Given the description of an element on the screen output the (x, y) to click on. 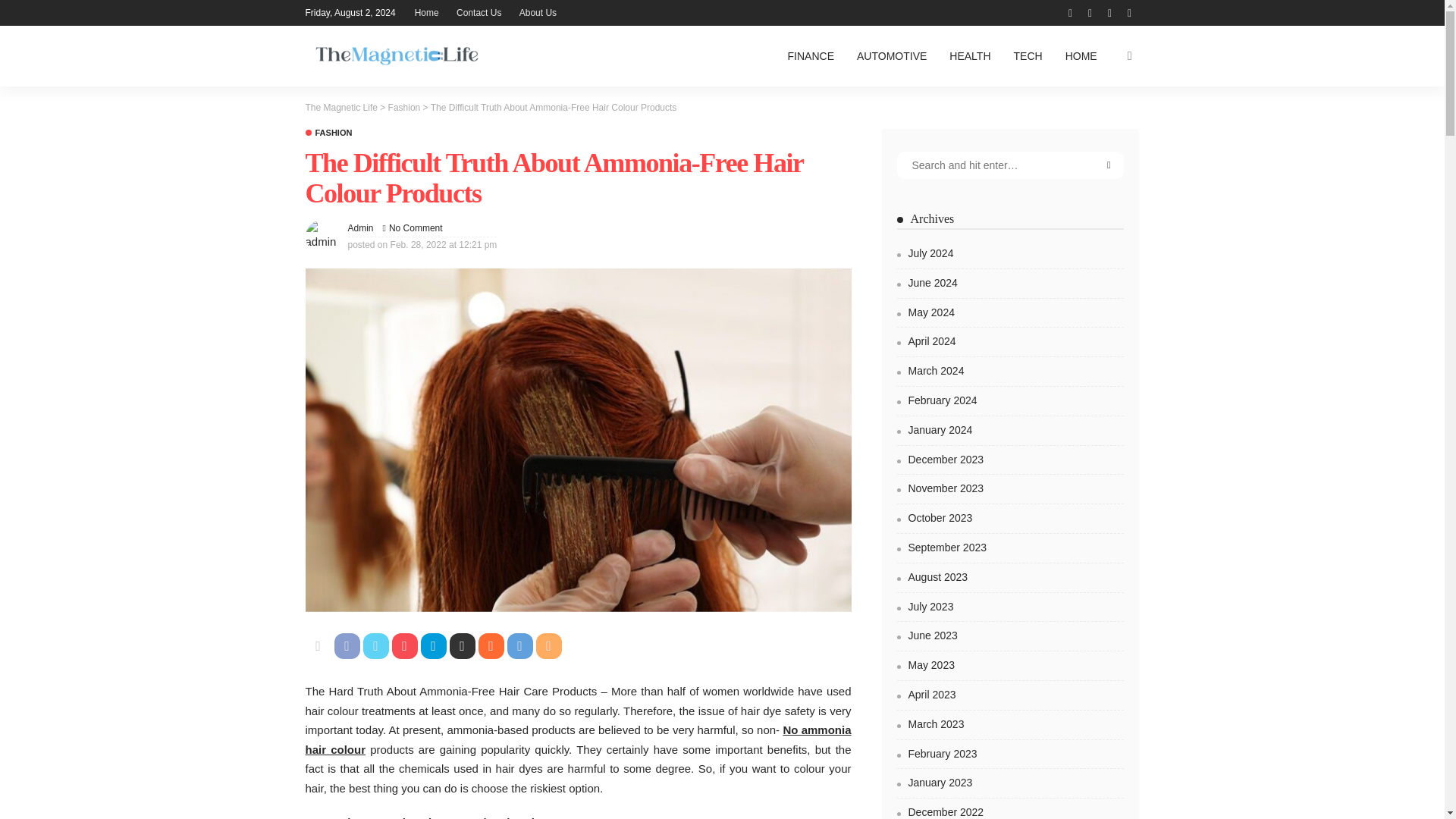
The Difficult Truth About Ammonia-Free Hair Colour Products (415, 227)
Go to The Magnetic Life. (340, 107)
Fashion (328, 132)
Go to the Fashion Category archives. (404, 107)
The Magnetic Life (395, 55)
